Given the description of an element on the screen output the (x, y) to click on. 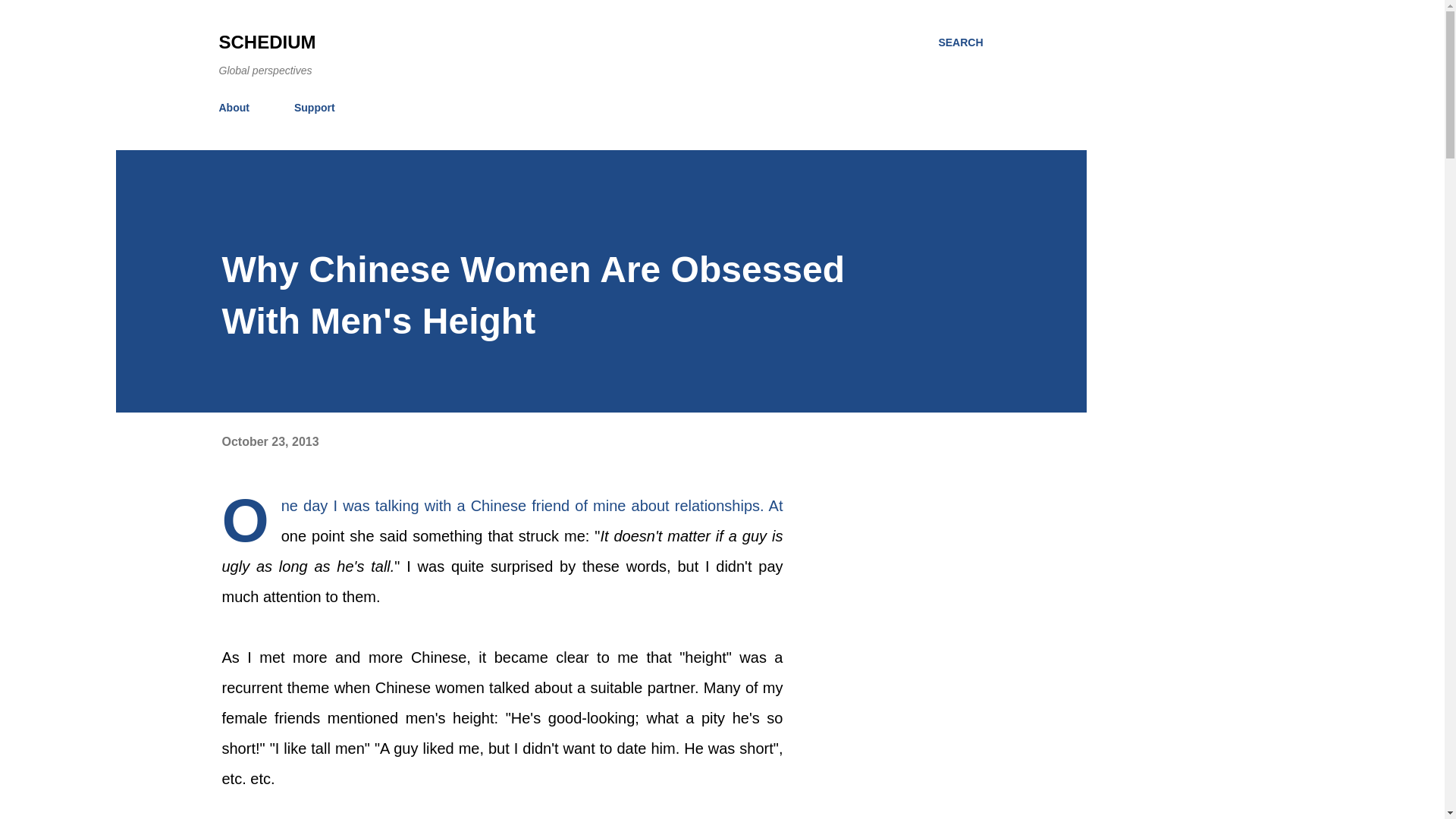
permanent link (269, 440)
October 23, 2013 (269, 440)
Support (314, 107)
SEARCH (959, 42)
SCHEDIUM (266, 41)
About (237, 107)
